Given the description of an element on the screen output the (x, y) to click on. 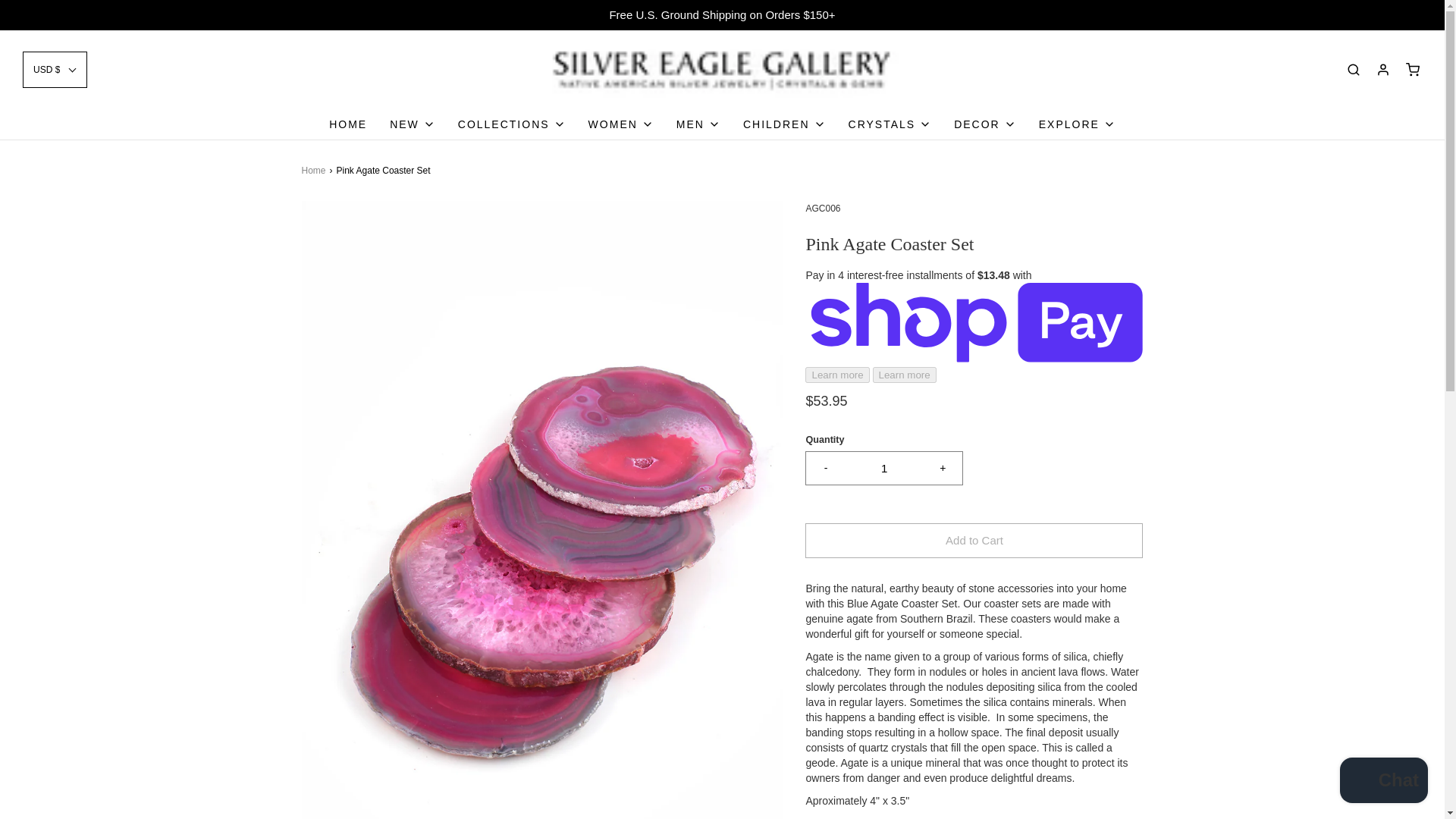
Search (1423, 5)
Search (1352, 69)
Log in (1382, 69)
1 (884, 468)
Shopify online store chat (1383, 781)
Back to the frontpage (315, 170)
Cart (1412, 69)
